Given the description of an element on the screen output the (x, y) to click on. 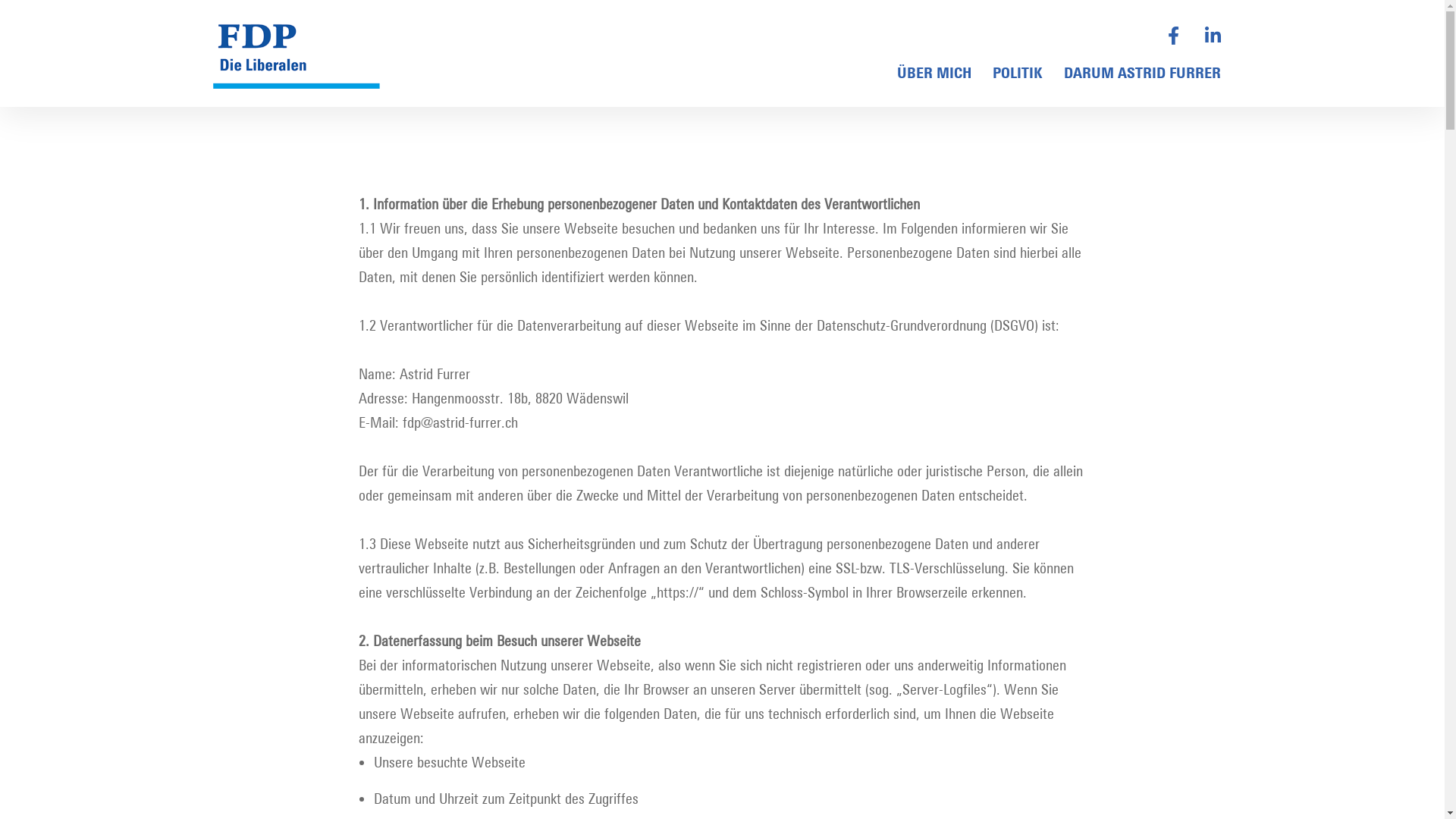
POLITIK Element type: text (1016, 72)
DARUM ASTRID FURRER Element type: text (1141, 72)
